Given the description of an element on the screen output the (x, y) to click on. 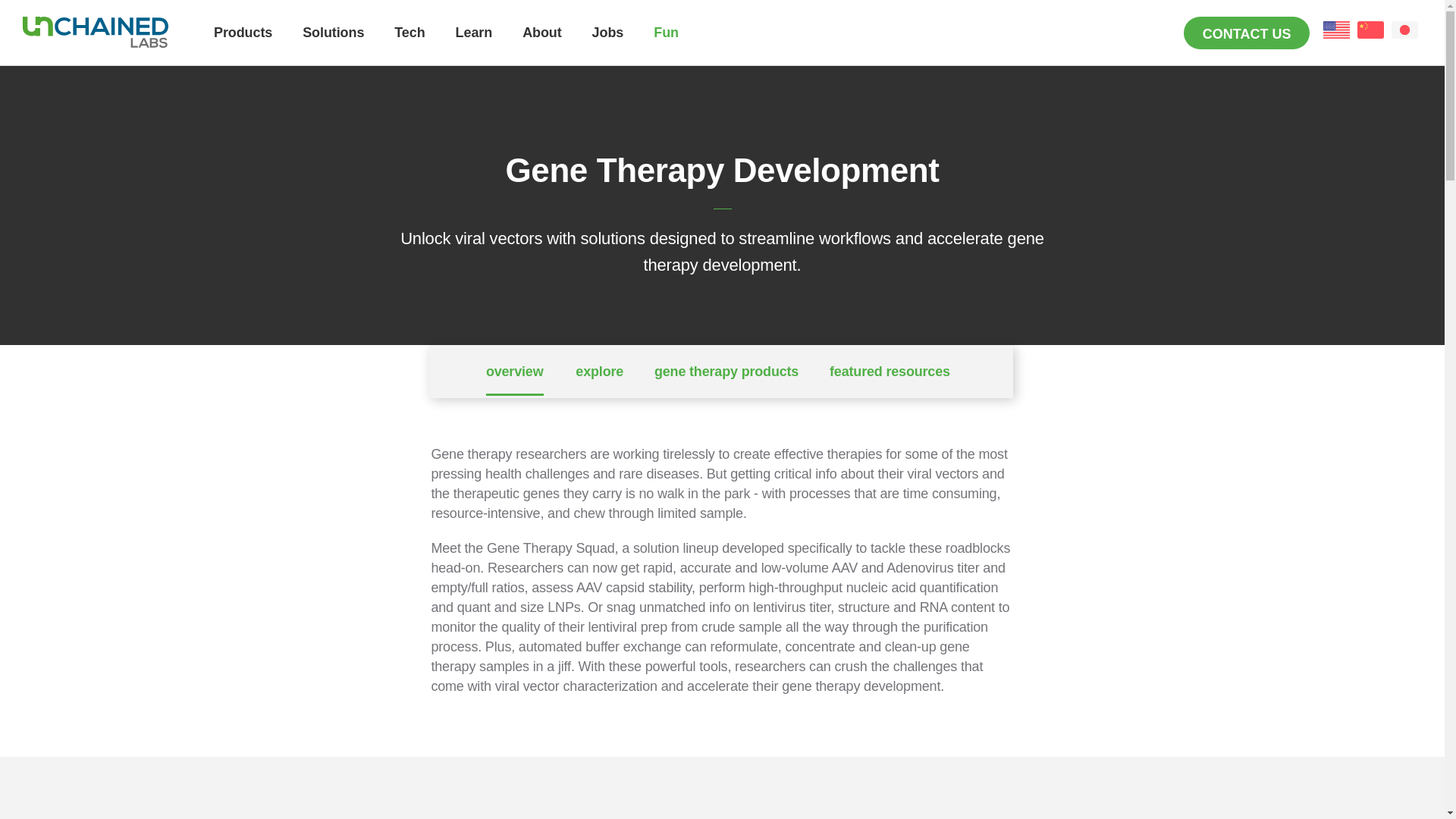
-g-logo (95, 31)
Solutions (348, 40)
Products (258, 40)
